Given the description of an element on the screen output the (x, y) to click on. 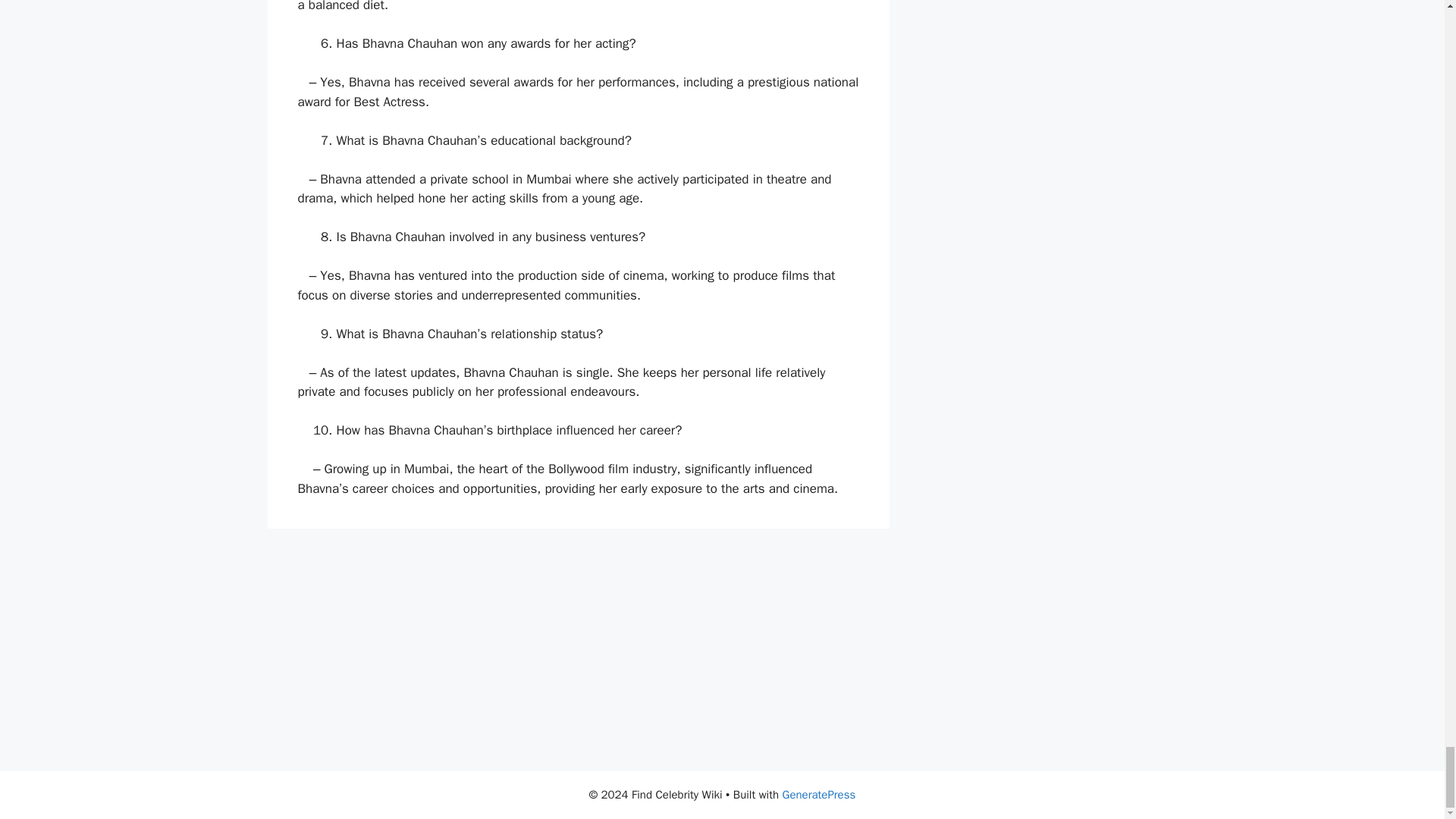
GeneratePress (819, 794)
